Given the description of an element on the screen output the (x, y) to click on. 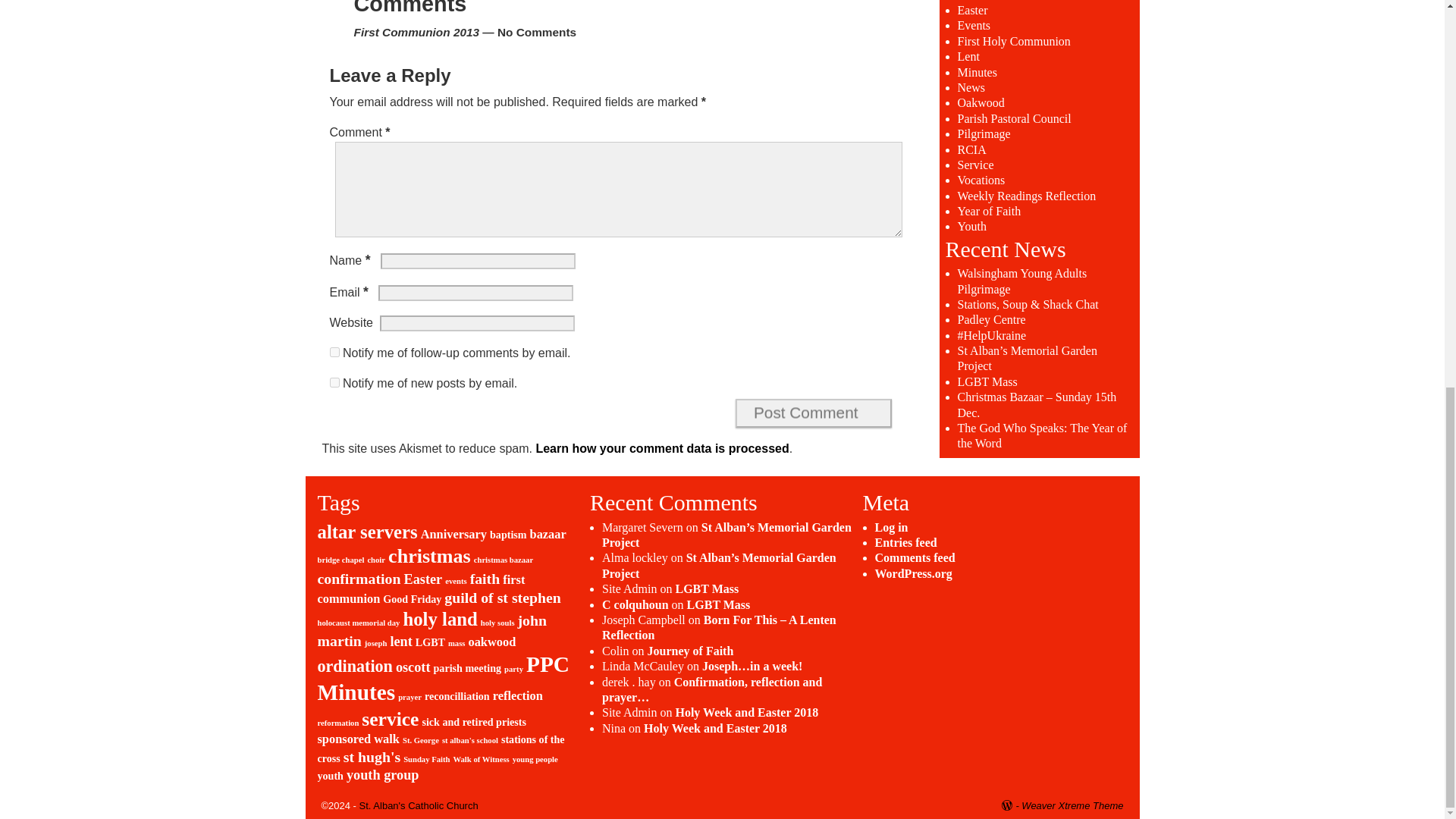
subscribe (334, 352)
Weaver Xtreme Theme (1072, 805)
St. Alban's Catholic Church (419, 805)
Proudly powered by WordPress (1011, 805)
subscribe (334, 382)
Post Comment (813, 412)
